Given the description of an element on the screen output the (x, y) to click on. 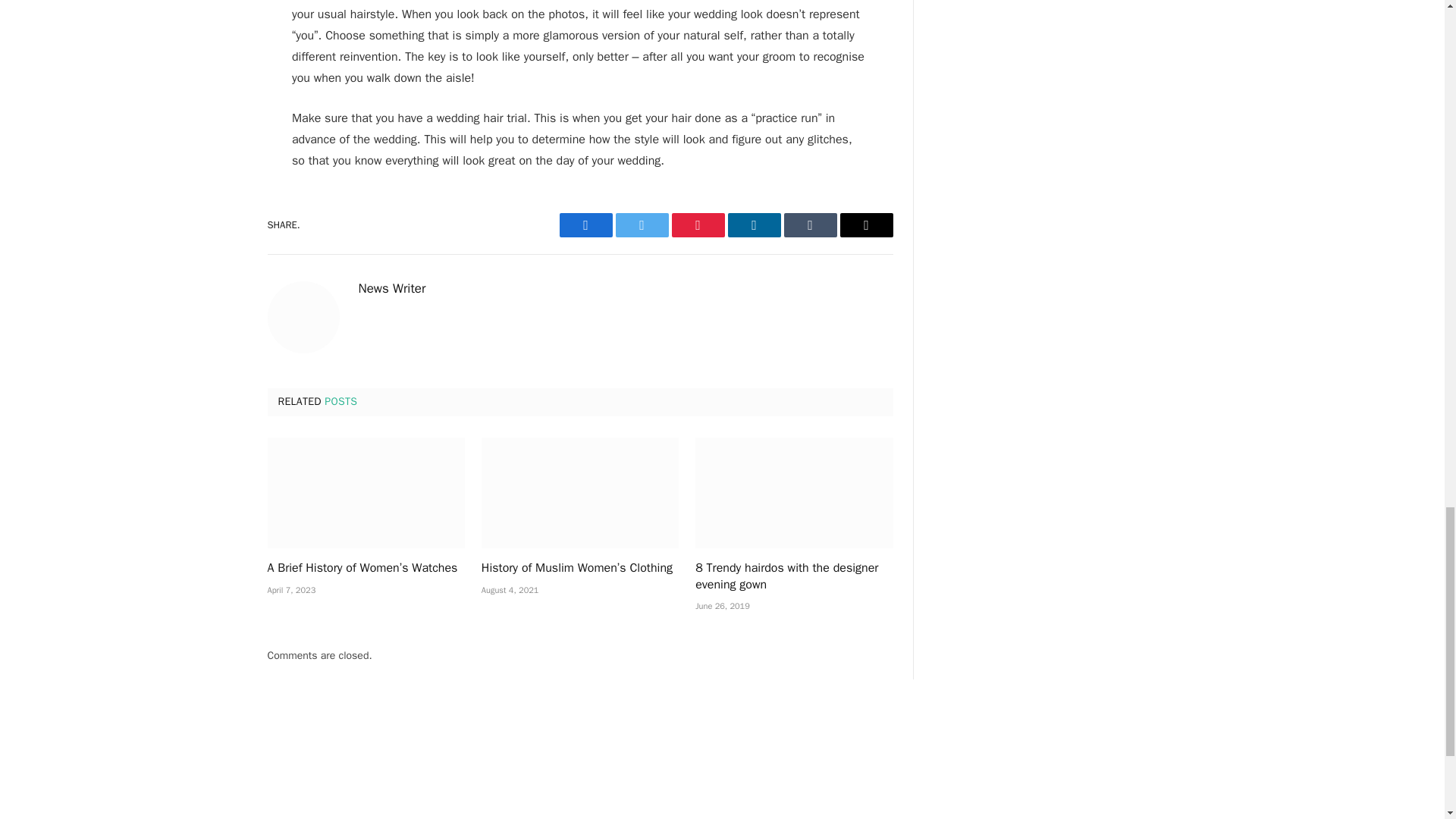
Pinterest (698, 224)
Facebook (585, 224)
Twitter (641, 224)
